Given the description of an element on the screen output the (x, y) to click on. 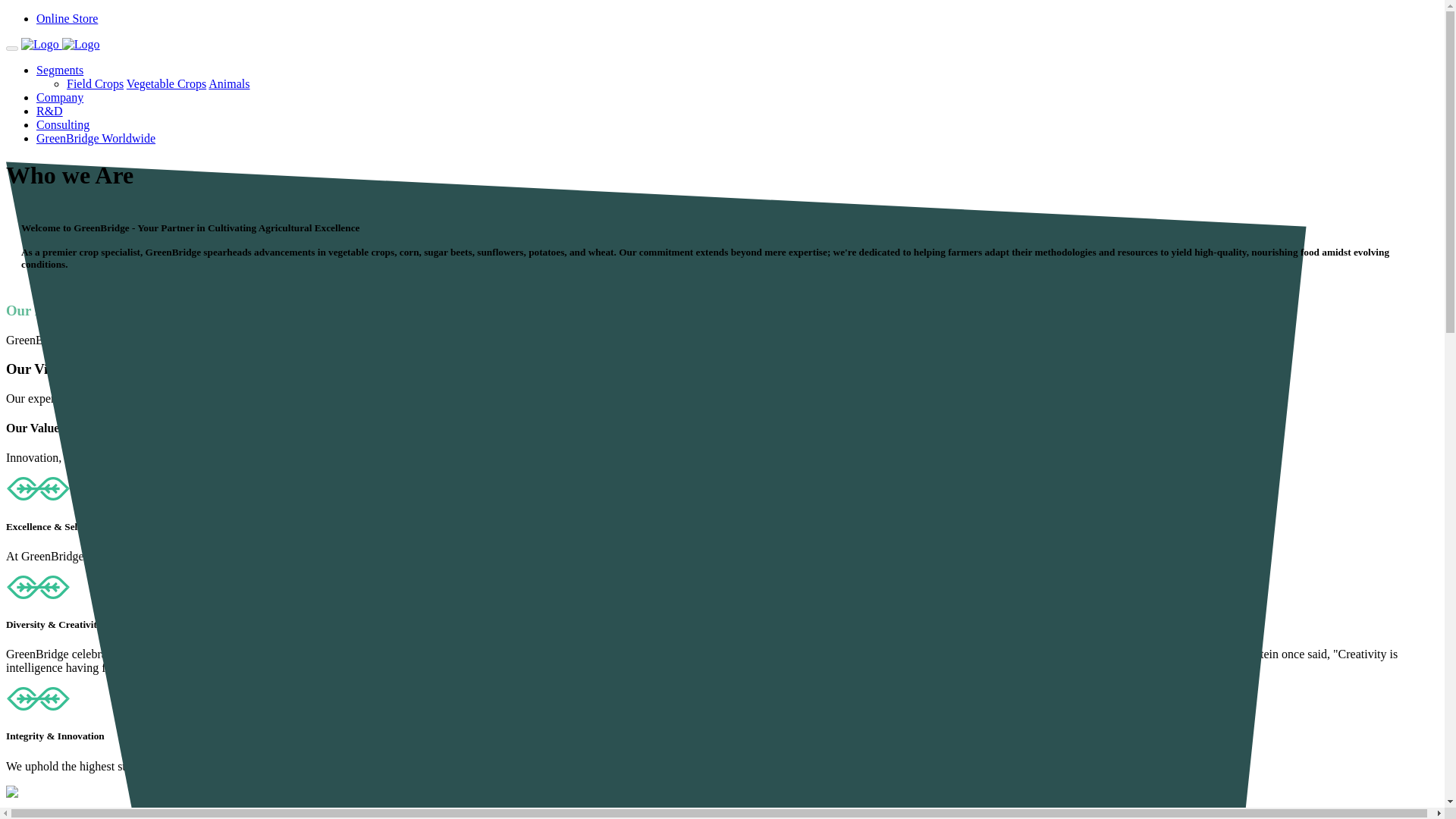
Animals (228, 83)
Online Store (66, 18)
Consulting (62, 124)
Field Crops (94, 83)
Segments (59, 69)
Vegetable Crops (166, 83)
Company (59, 97)
GreenBridge Worldwide (95, 137)
